Given the description of an element on the screen output the (x, y) to click on. 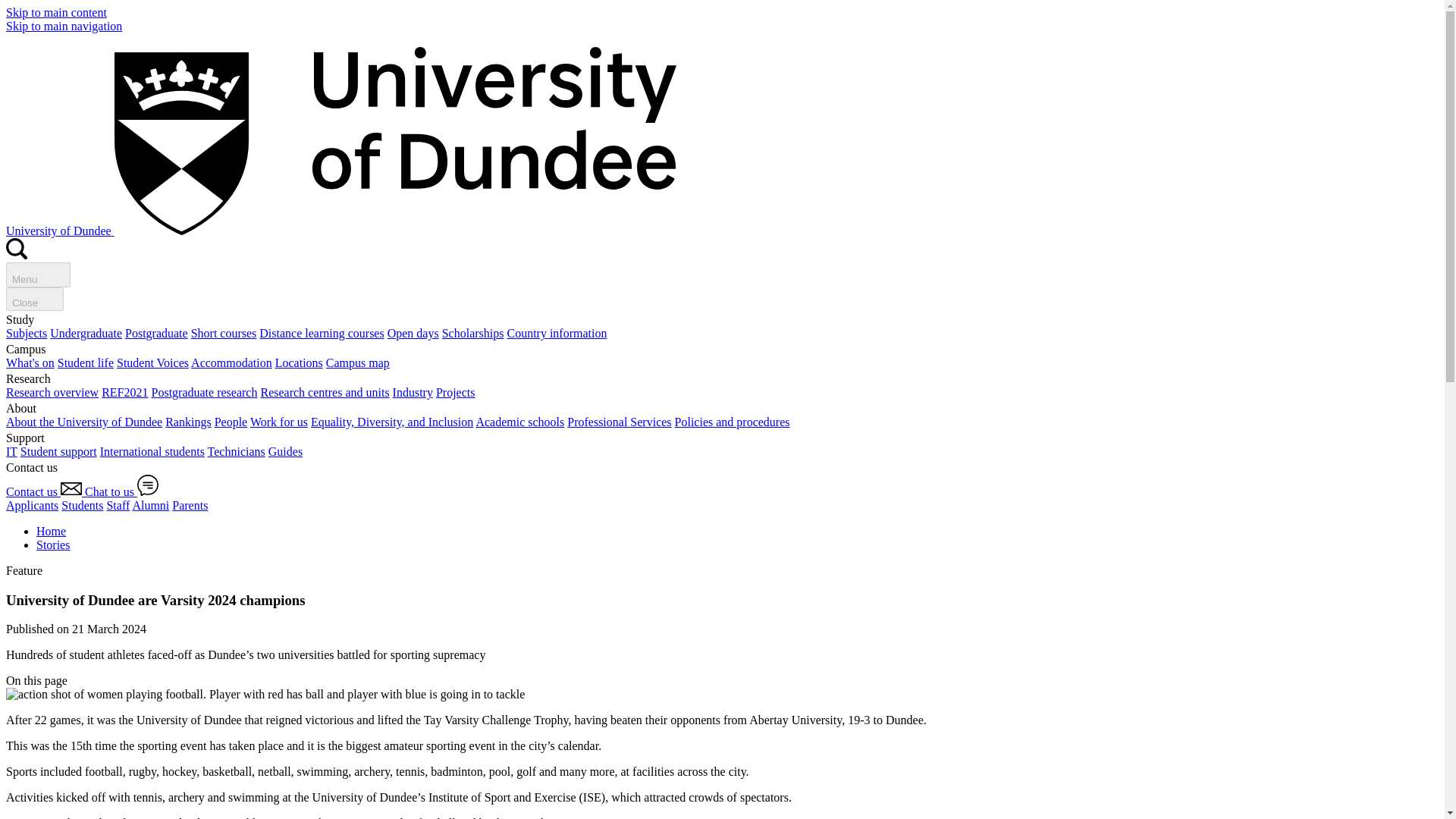
Student support (58, 451)
Research centres and units (324, 391)
Academic schools (520, 421)
Close close (34, 299)
About the University of Dundee (83, 421)
Rankings (188, 421)
People (230, 421)
close (49, 297)
Skip to main navigation (63, 25)
Chevron pointing down (75, 681)
Locations (299, 362)
Search (16, 254)
About the University of Dundee (83, 421)
